Given the description of an element on the screen output the (x, y) to click on. 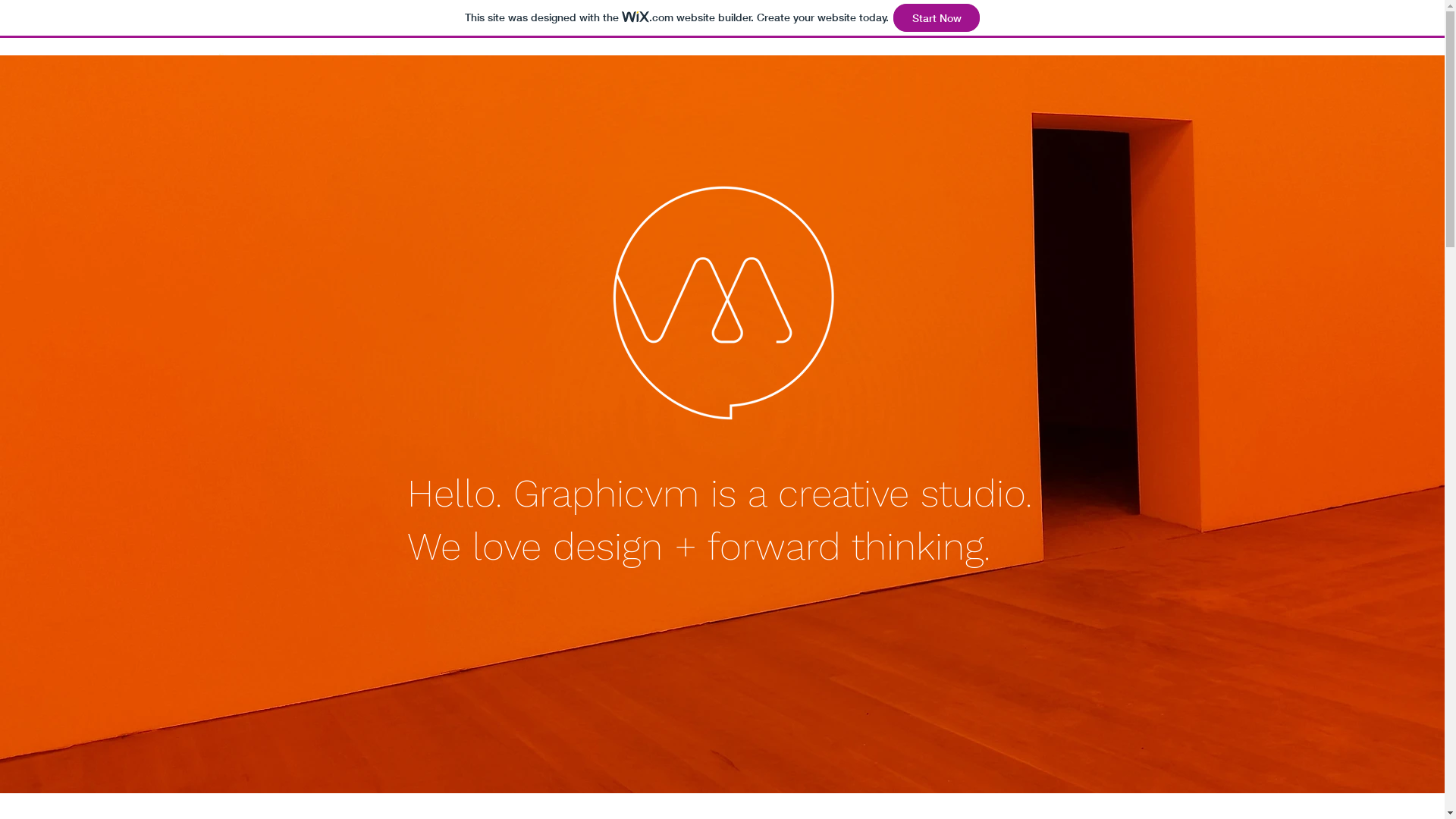
HOME Element type: text (1038, 79)
WORK Element type: text (1102, 79)
CONTACT Element type: text (1353, 79)
PACKAGING+MERCHANDISE Element type: text (1224, 79)
